Given the description of an element on the screen output the (x, y) to click on. 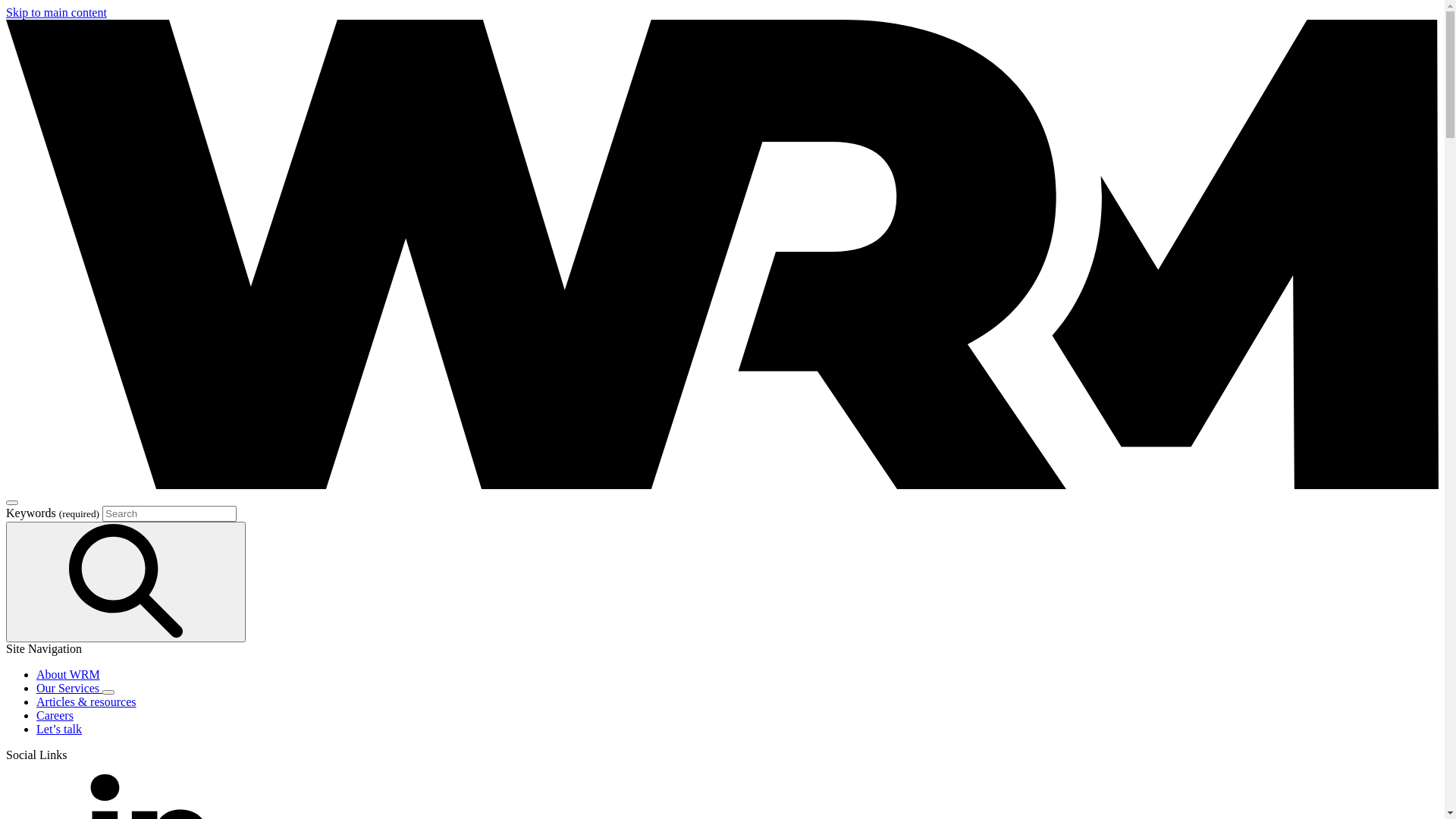
About WRM Element type: text (68, 674)
WRM Element type: text (722, 484)
Go Element type: text (125, 581)
Articles & resources Element type: text (86, 701)
Our Services Element type: text (69, 687)
Careers Element type: text (54, 715)
Skip to main content Element type: text (56, 12)
